Given the description of an element on the screen output the (x, y) to click on. 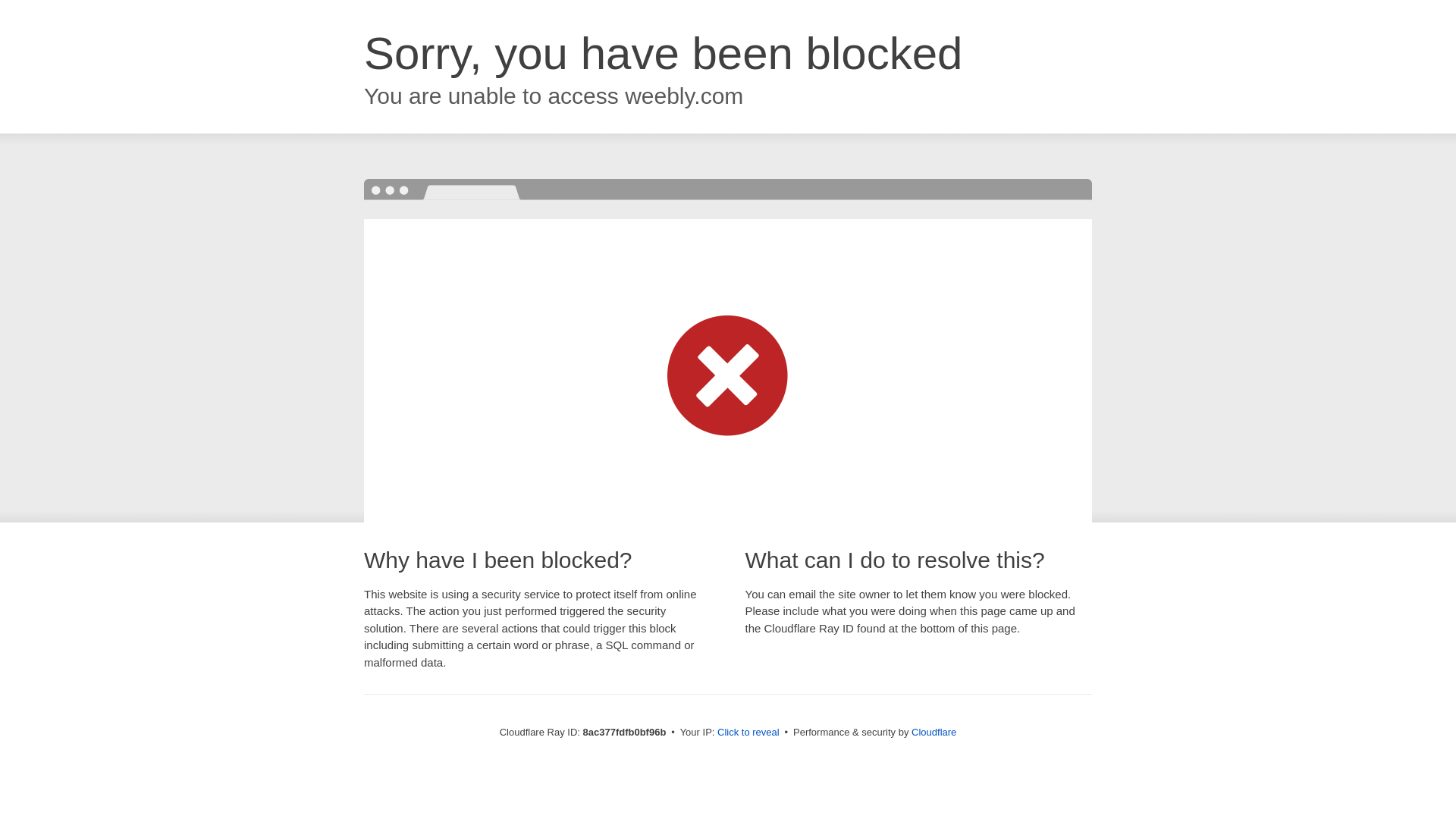
Click to reveal (747, 732)
Cloudflare (933, 731)
